Given the description of an element on the screen output the (x, y) to click on. 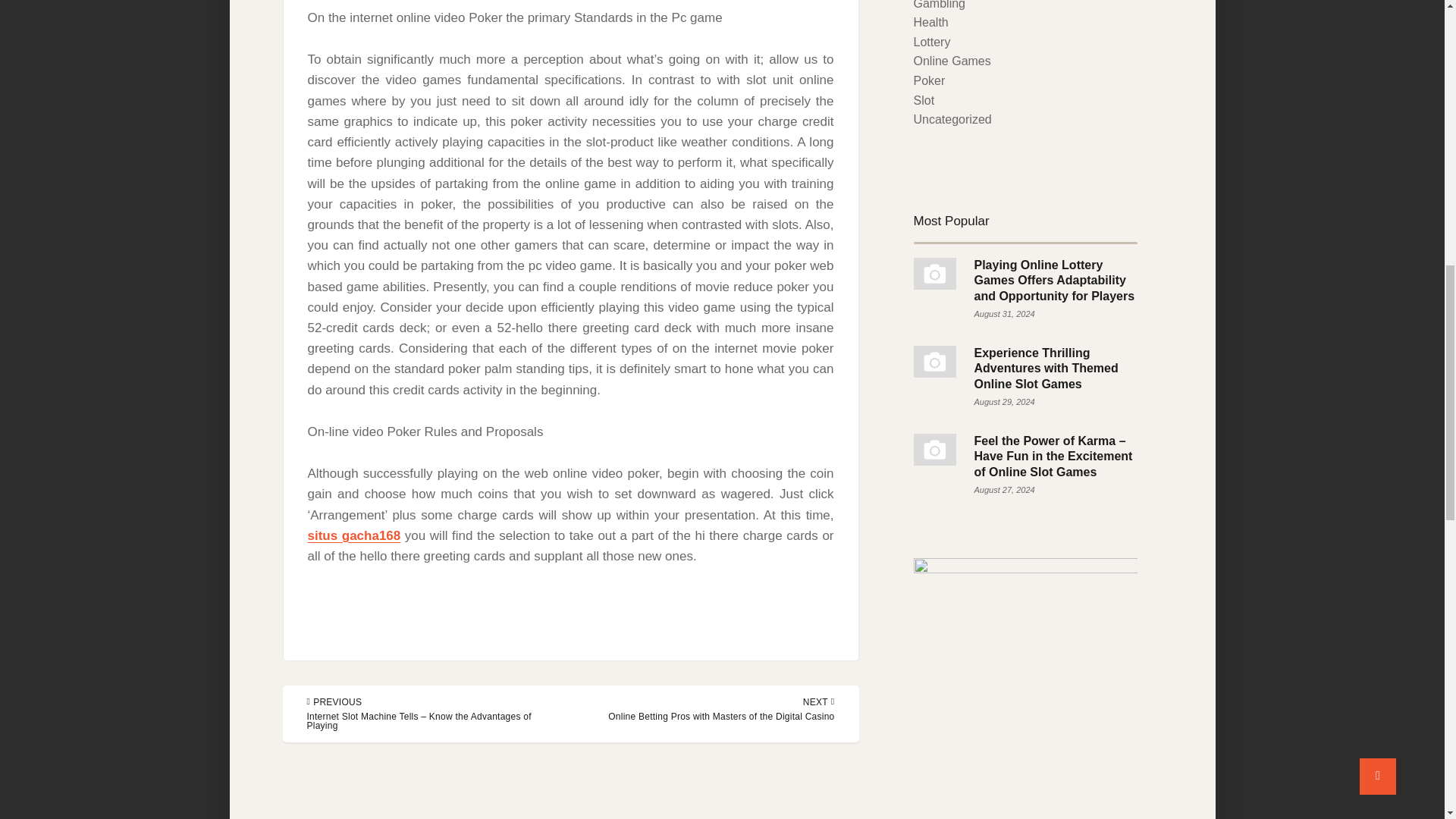
Slot (923, 100)
Health (929, 21)
Gambling (937, 4)
Poker (928, 80)
situs gacha168 (354, 535)
Uncategorized (951, 119)
Lottery (931, 42)
